Given the description of an element on the screen output the (x, y) to click on. 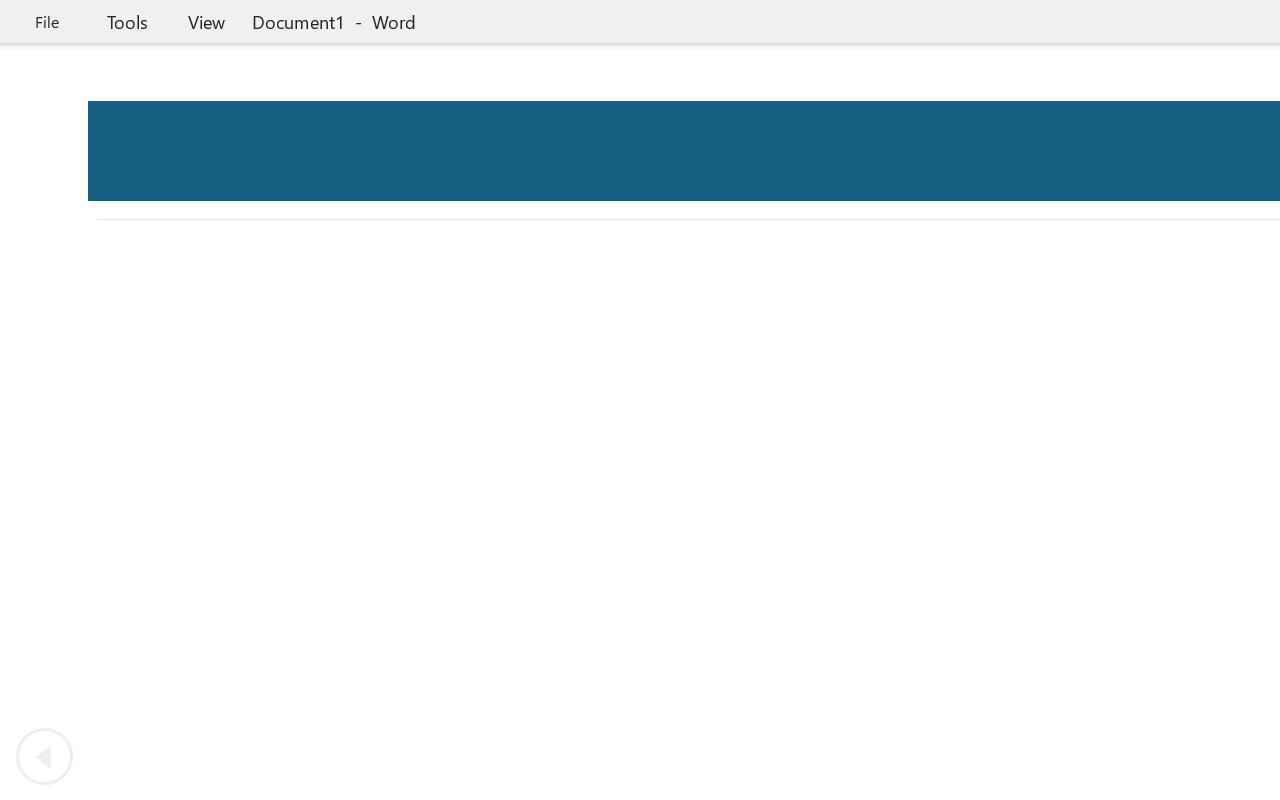
Tools (127, 21)
